Given the description of an element on the screen output the (x, y) to click on. 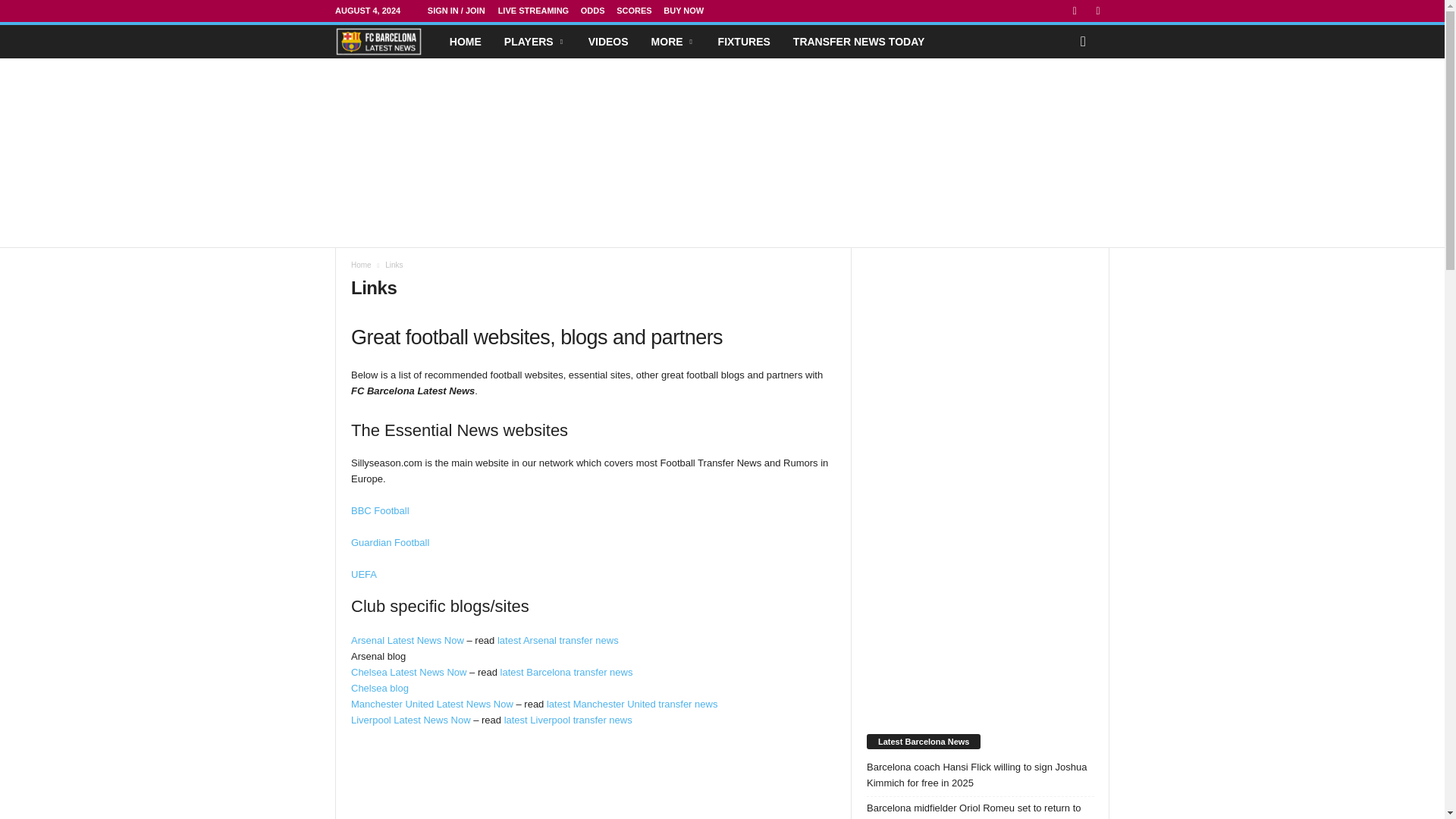
LIVE STREAMING (533, 10)
BUY NOW (683, 10)
SCORES (632, 10)
ODDS (592, 10)
FC Barcelona Latest News Now Today Morning (378, 41)
